Given the description of an element on the screen output the (x, y) to click on. 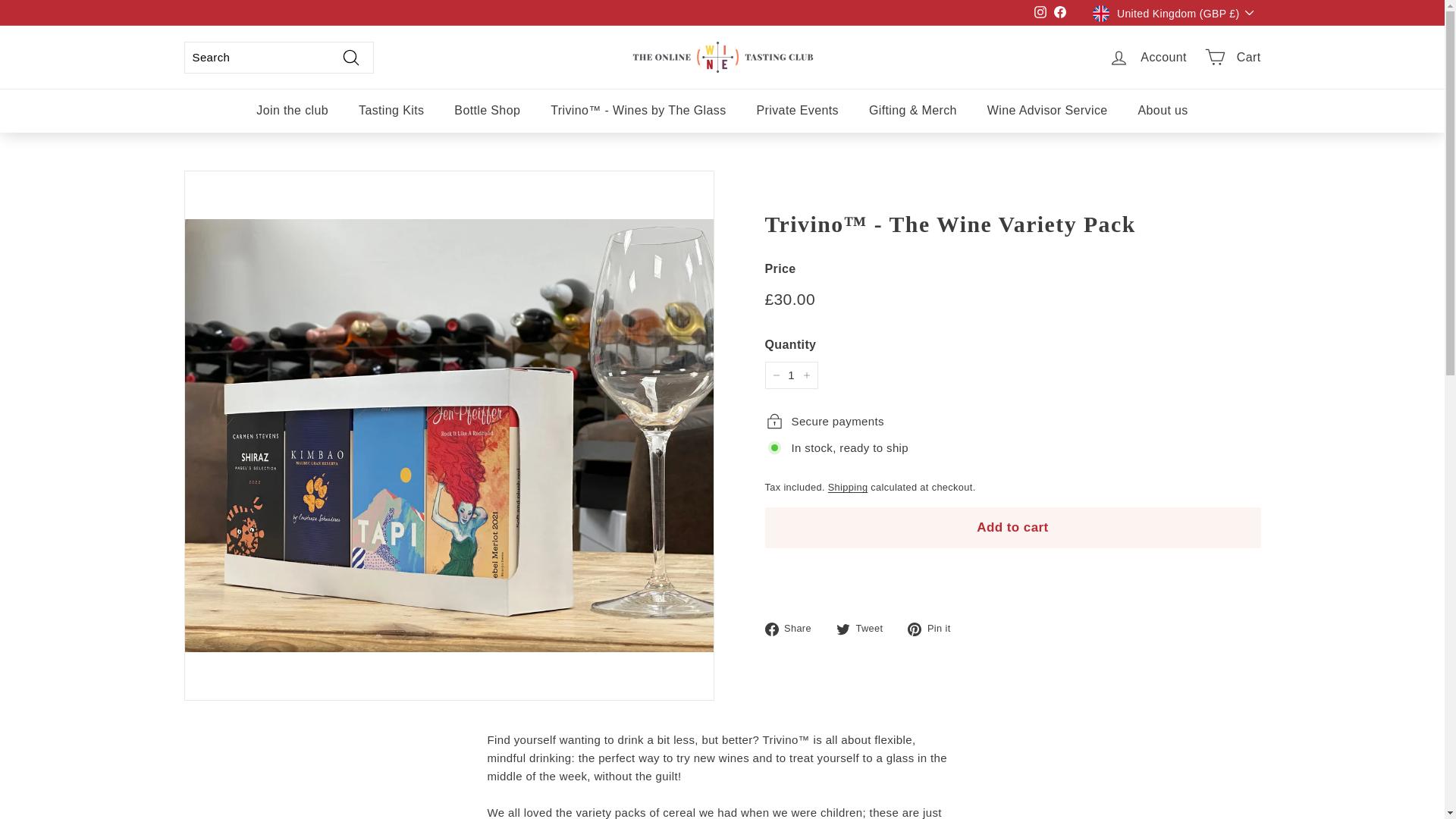
1 (790, 375)
Pin on Pinterest (933, 628)
Tweet on Twitter (864, 628)
Share on Facebook (793, 628)
